Given the description of an element on the screen output the (x, y) to click on. 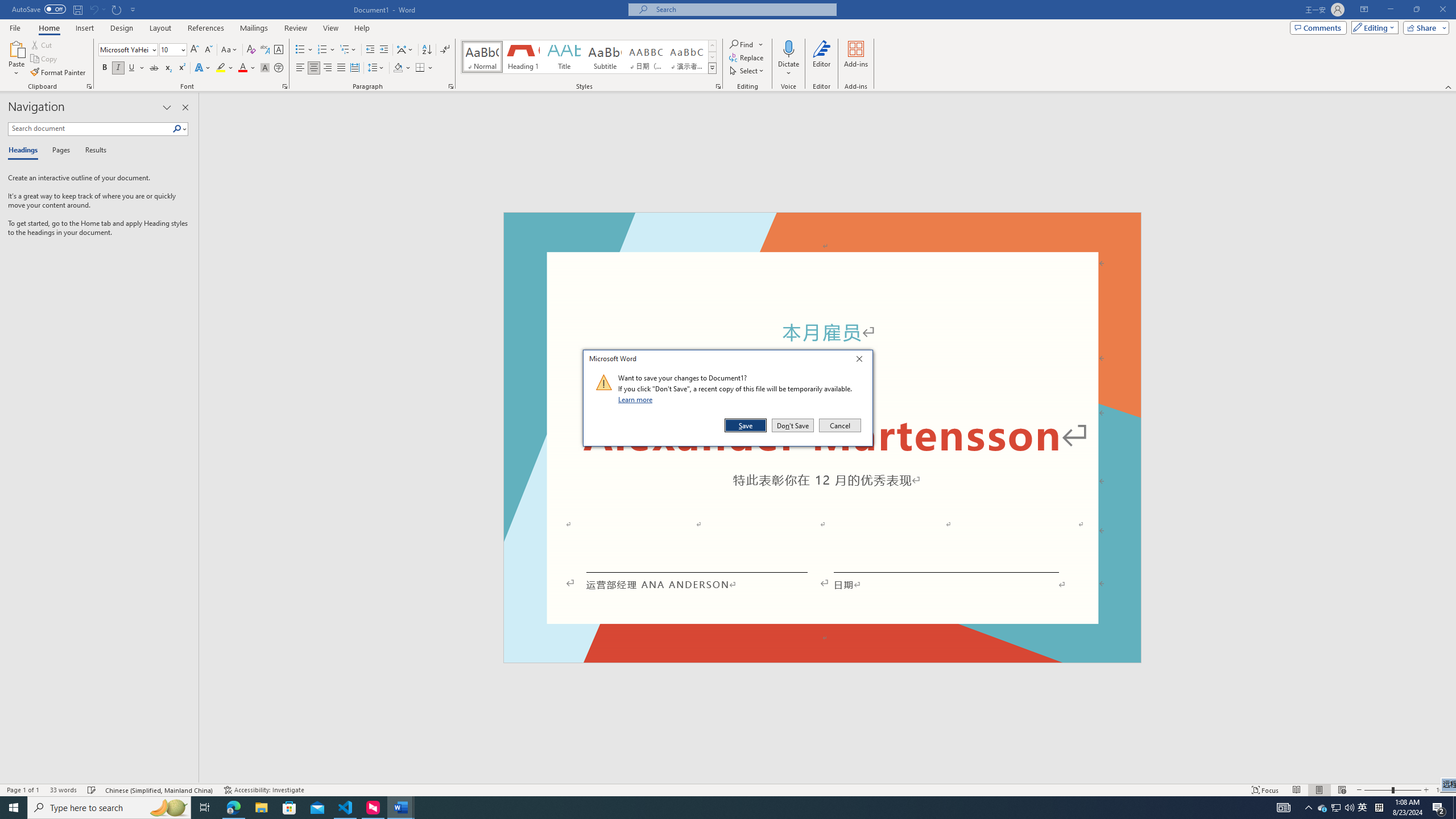
Font... (285, 85)
Superscript (180, 67)
Sort... (426, 49)
Character Shading (264, 67)
Distributed (354, 67)
Character Border (1322, 807)
